Given the description of an element on the screen output the (x, y) to click on. 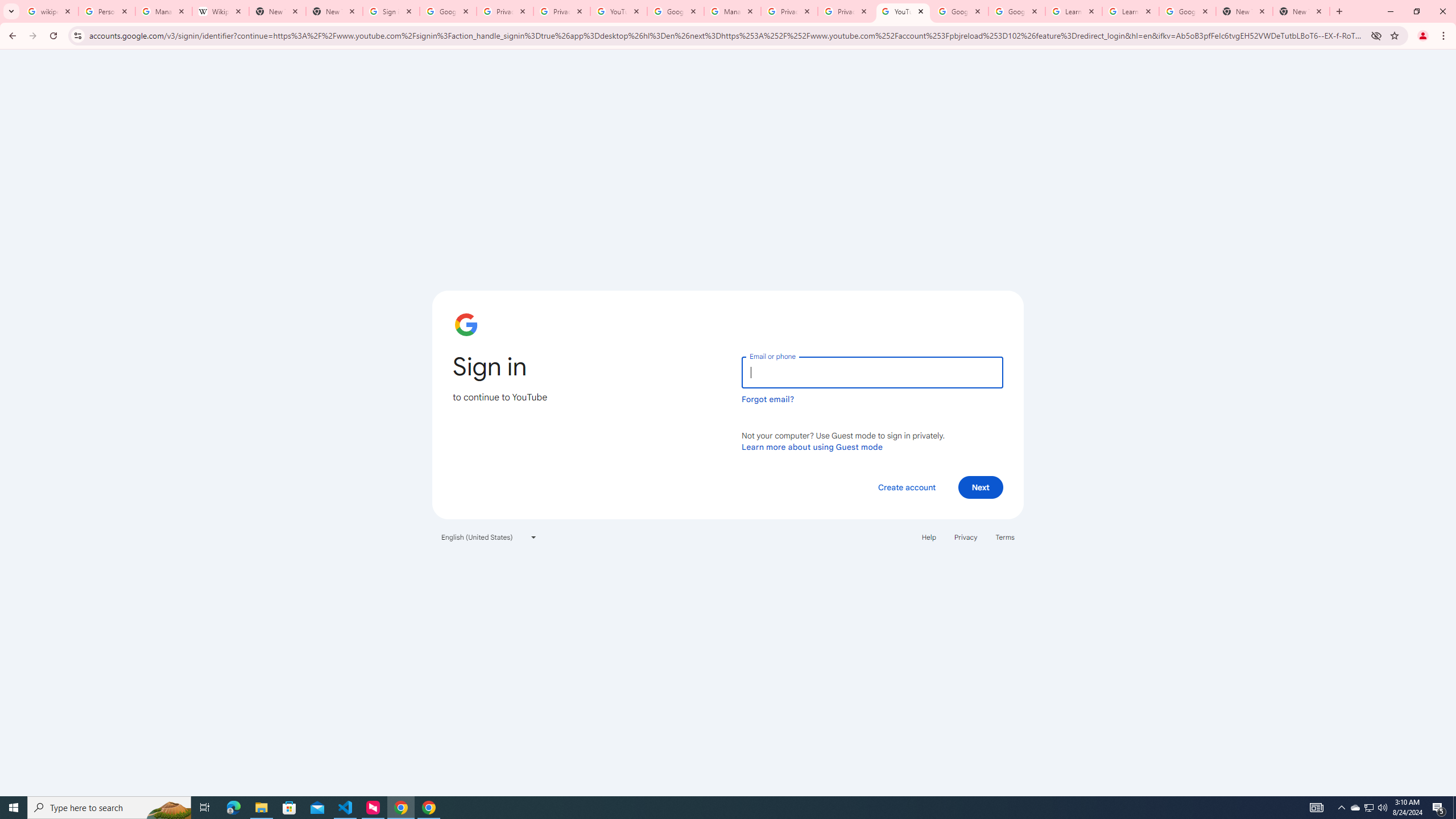
Wikipedia:Edit requests - Wikipedia (220, 11)
Create account (905, 486)
Google Account Help (1015, 11)
Google Drive: Sign-in (447, 11)
Manage your Location History - Google Search Help (163, 11)
Google Account Help (675, 11)
YouTube (618, 11)
Personalization & Google Search results - Google Search Help (105, 11)
English (United States) (489, 536)
